Given the description of an element on the screen output the (x, y) to click on. 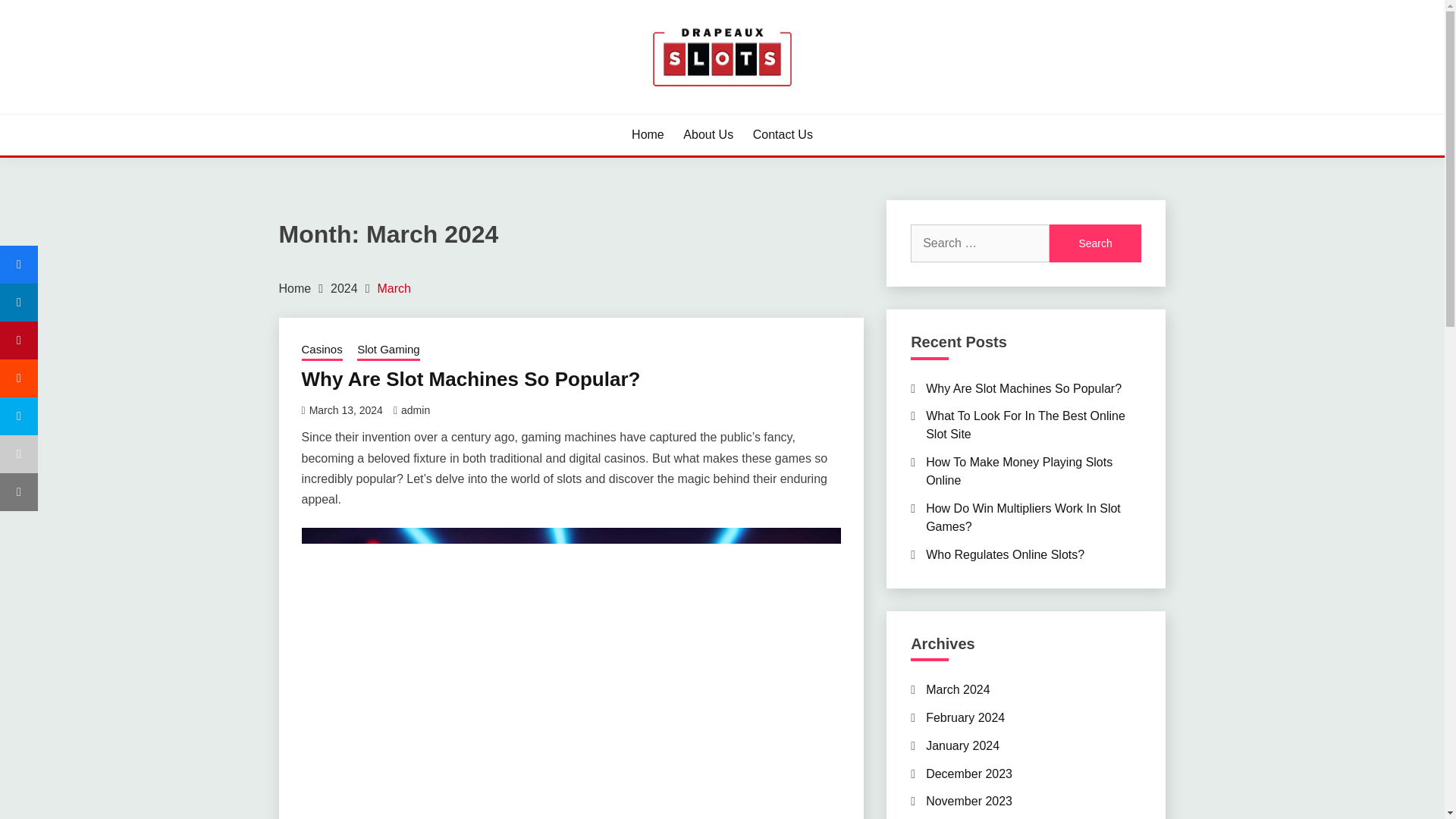
Search (1095, 243)
Who Regulates Online Slots? (1005, 554)
Casinos (321, 351)
How Do Win Multipliers Work In Slot Games? (1023, 517)
DRAPEAUX SLOTS (407, 111)
About Us (707, 135)
Why Are Slot Machines So Popular? (1023, 388)
2024 (344, 287)
March 2024 (958, 689)
January 2024 (962, 745)
